Given the description of an element on the screen output the (x, y) to click on. 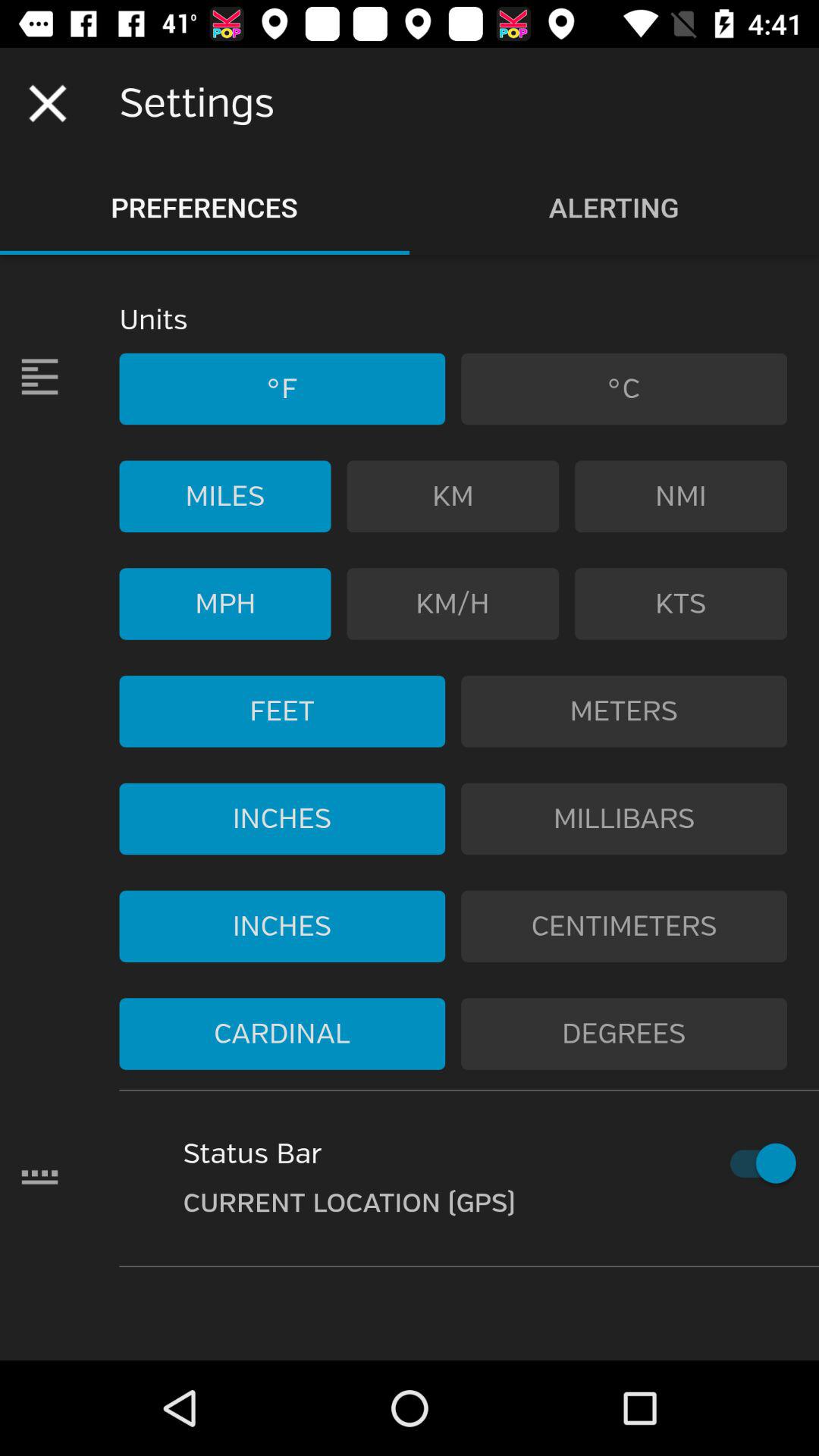
turn off (755, 1163)
